Given the description of an element on the screen output the (x, y) to click on. 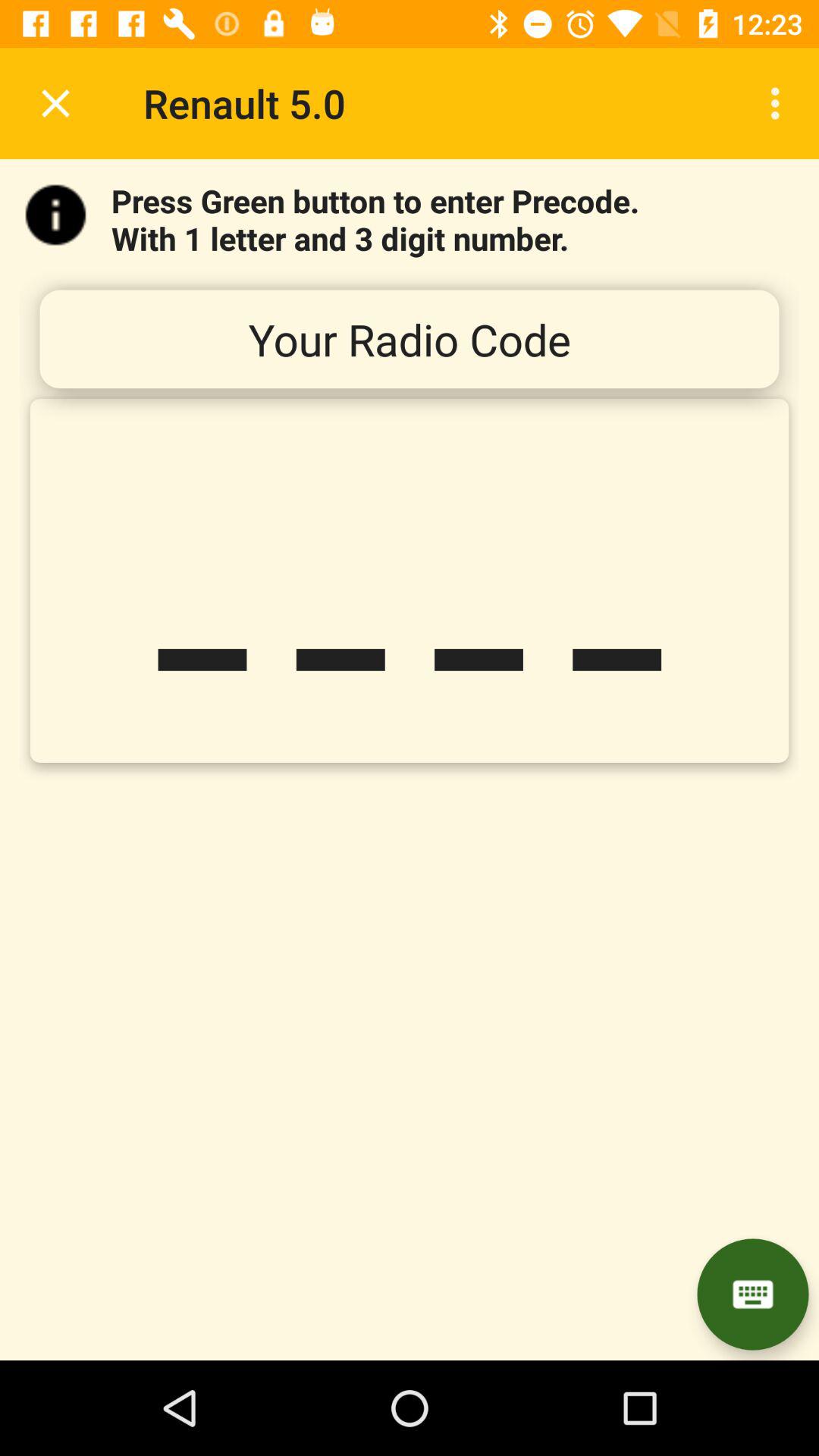
go to letter number pad (752, 1294)
